Given the description of an element on the screen output the (x, y) to click on. 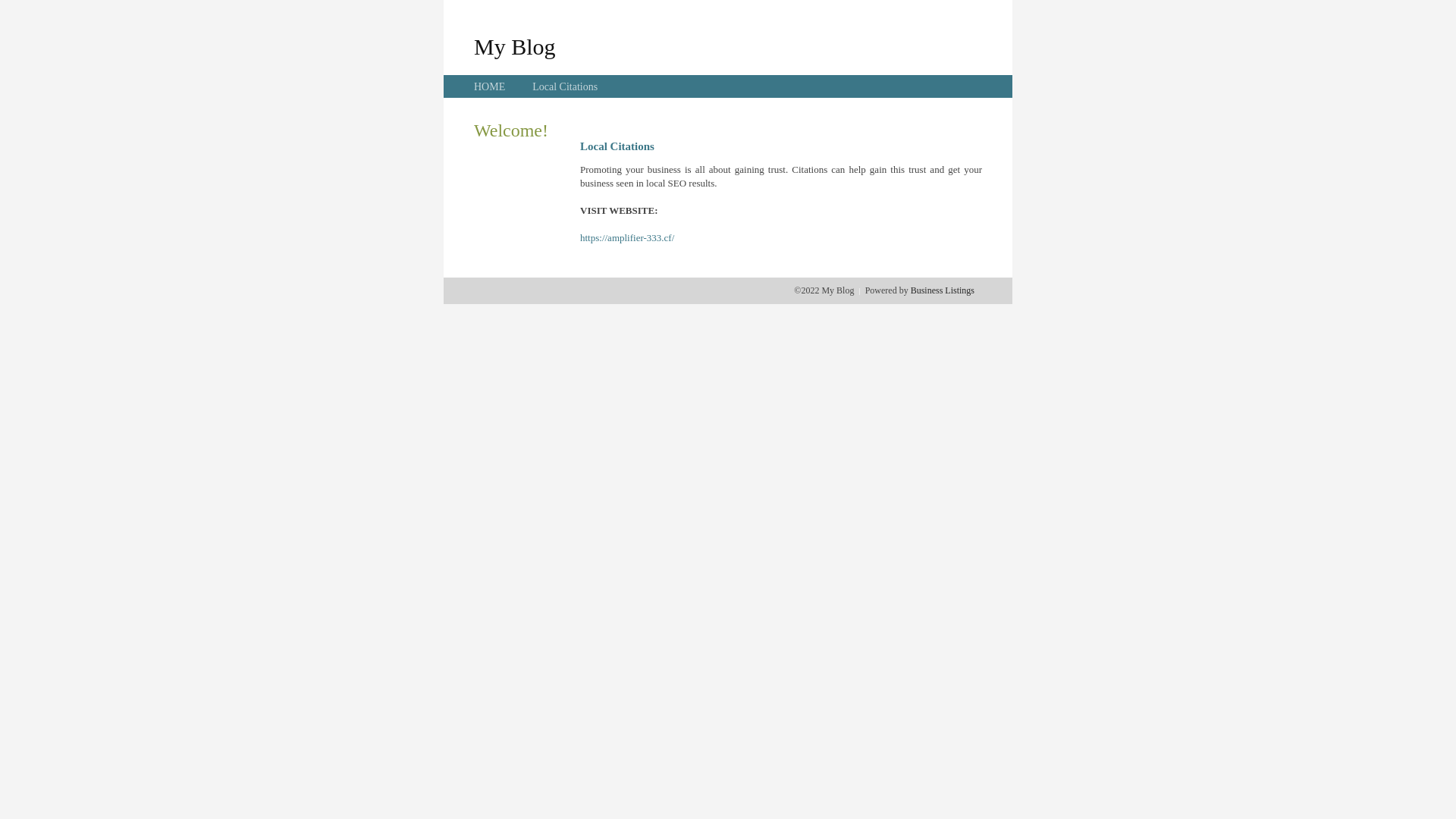
https://amplifier-333.cf/ Element type: text (627, 237)
My Blog Element type: text (514, 46)
Business Listings Element type: text (942, 290)
Local Citations Element type: text (564, 86)
HOME Element type: text (489, 86)
